Given the description of an element on the screen output the (x, y) to click on. 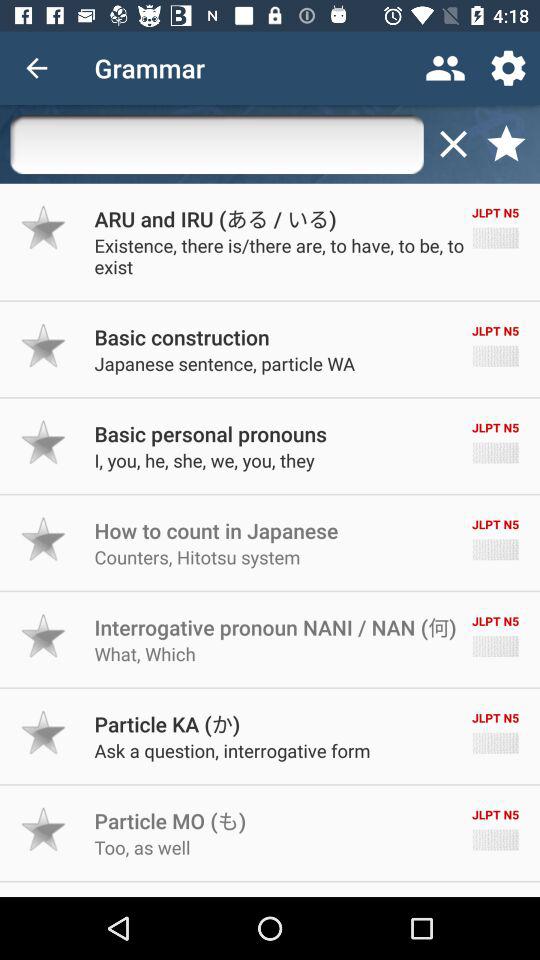
press basic personal pronouns item (210, 433)
